Given the description of an element on the screen output the (x, y) to click on. 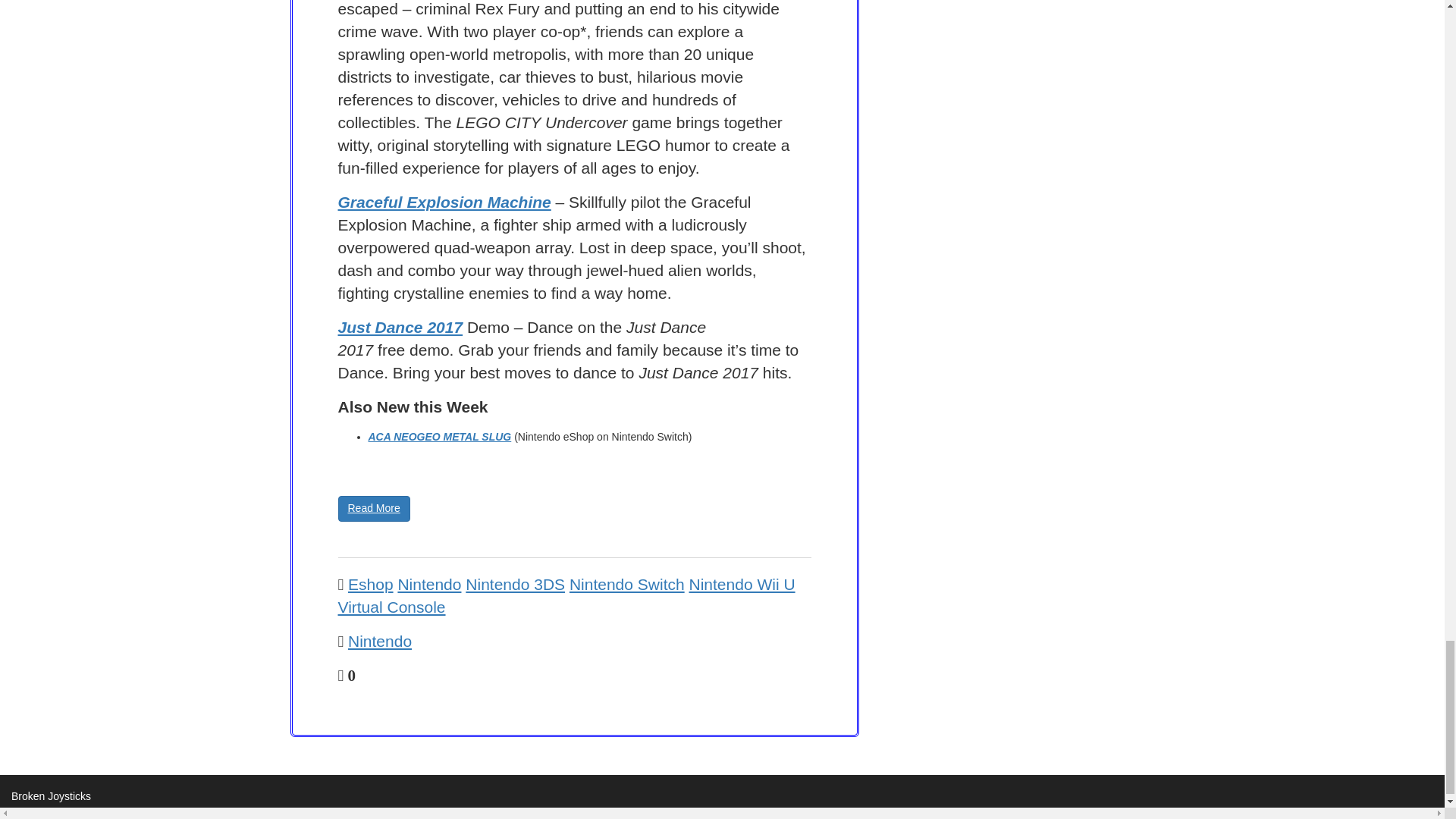
Read More (373, 508)
Graceful Explosion Machine (444, 201)
ACA NEOGEO METAL SLUG (440, 436)
Just Dance 2017 (400, 326)
